Given the description of an element on the screen output the (x, y) to click on. 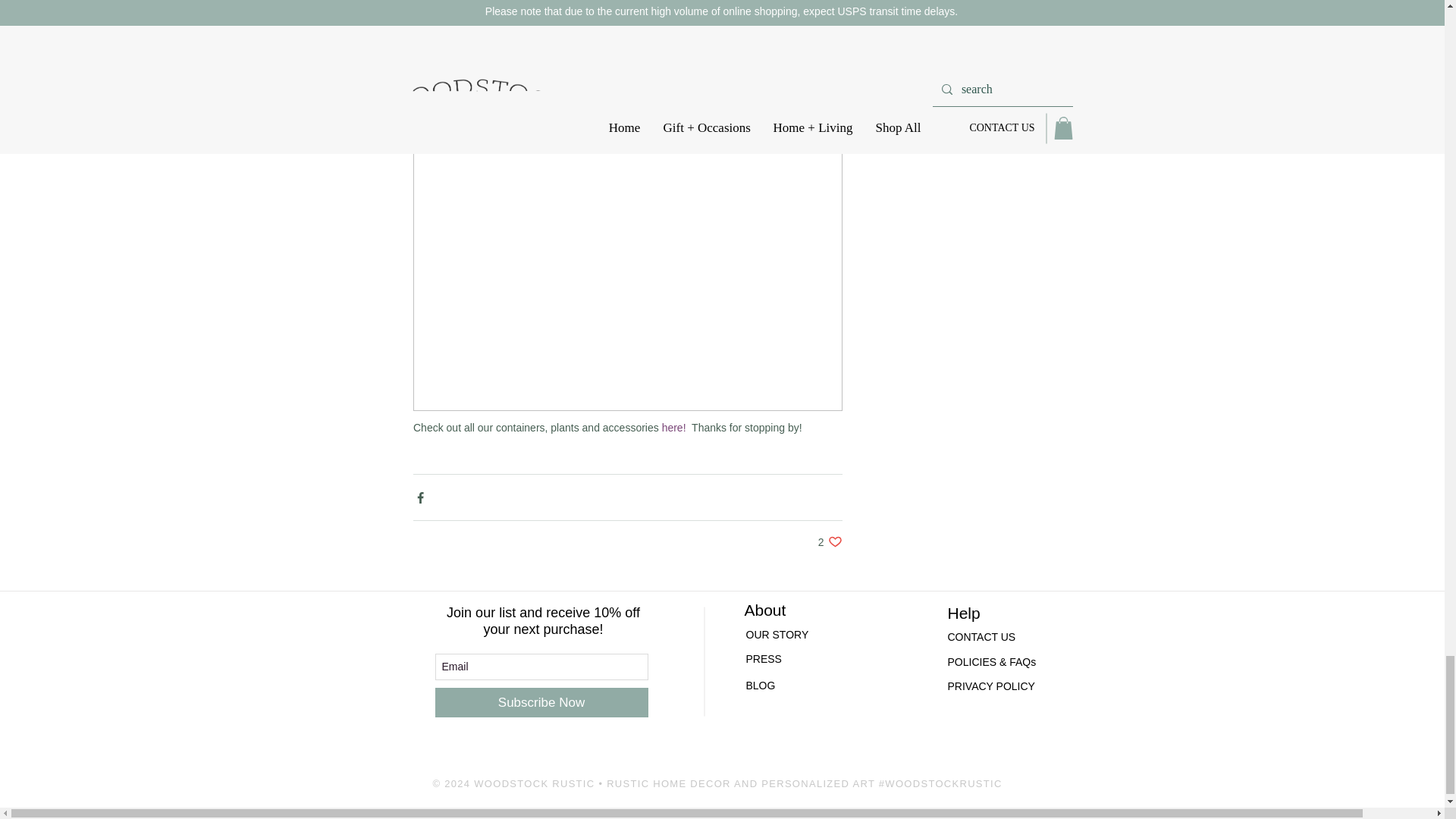
Subscribe Now (541, 702)
PRESS (786, 659)
BLOG (830, 541)
here! (760, 685)
OUR STORY (673, 427)
